Given the description of an element on the screen output the (x, y) to click on. 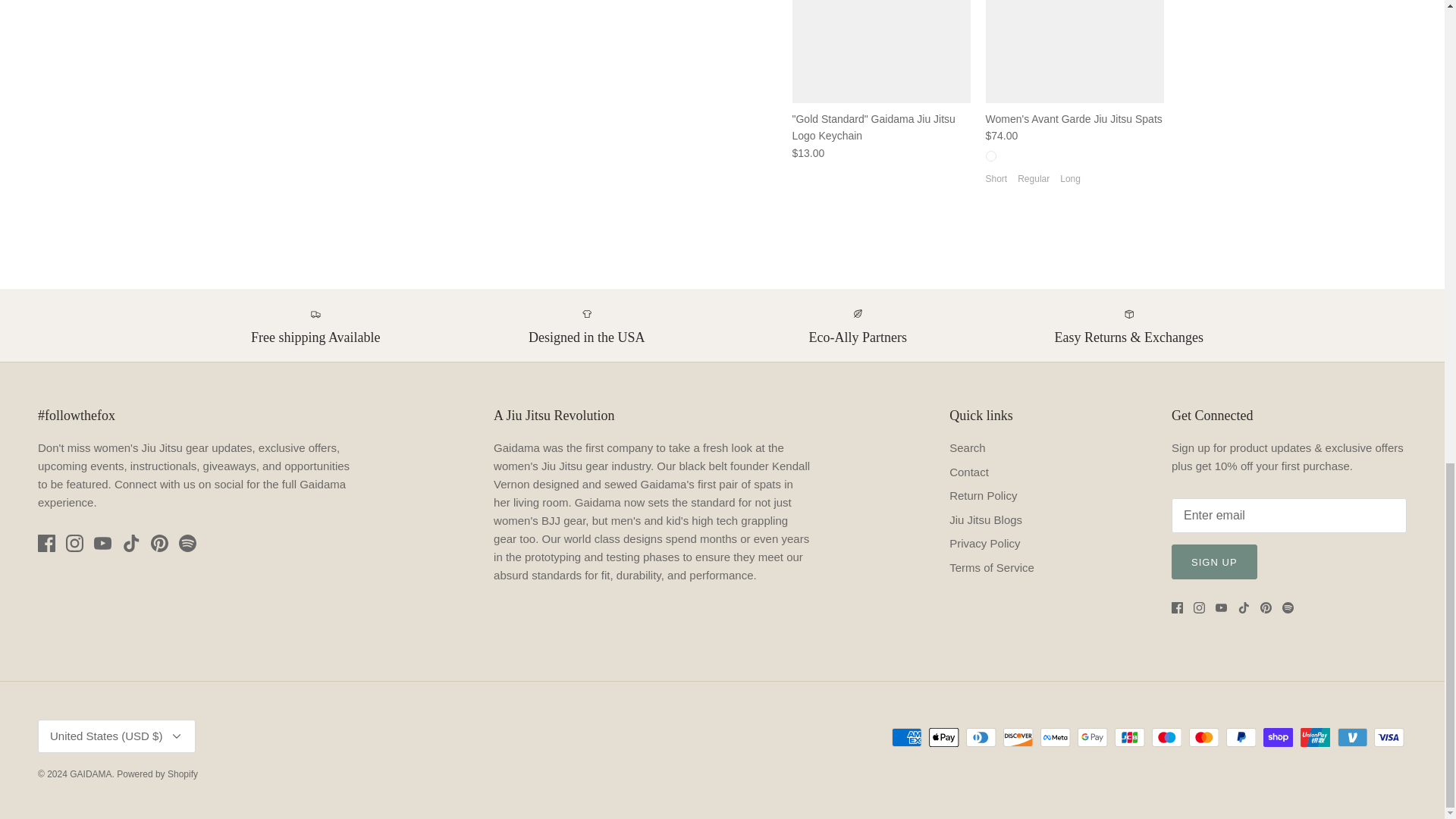
Facebook (46, 543)
